Given the description of an element on the screen output the (x, y) to click on. 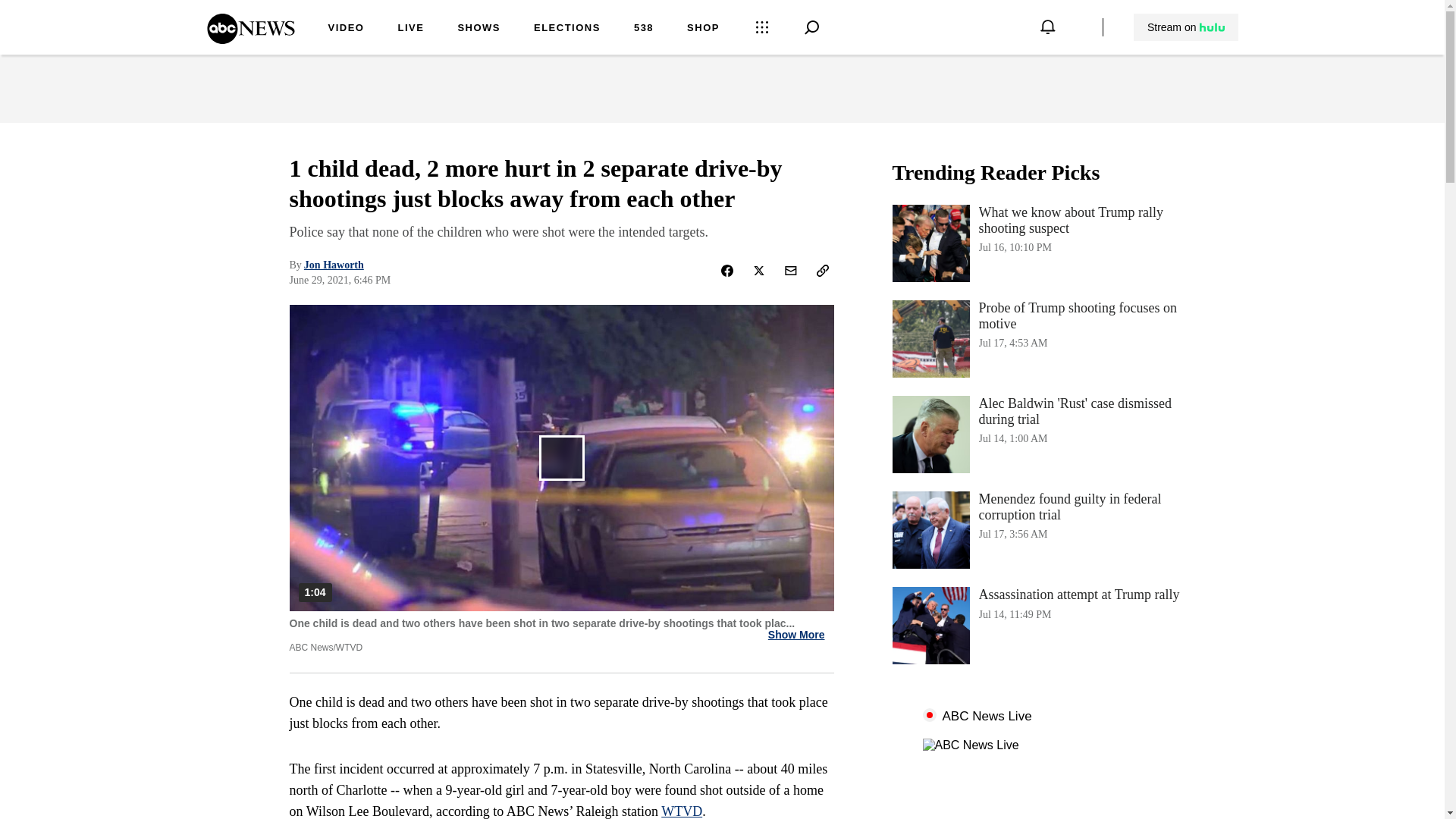
Stream on (1185, 27)
SHOWS (478, 28)
Jon Haworth (334, 265)
SHOP (1043, 625)
Show More (703, 28)
538 (1043, 338)
VIDEO (796, 634)
WTVD (643, 28)
Stream on (345, 28)
ABC News (681, 811)
ELECTIONS (1186, 26)
